Given the description of an element on the screen output the (x, y) to click on. 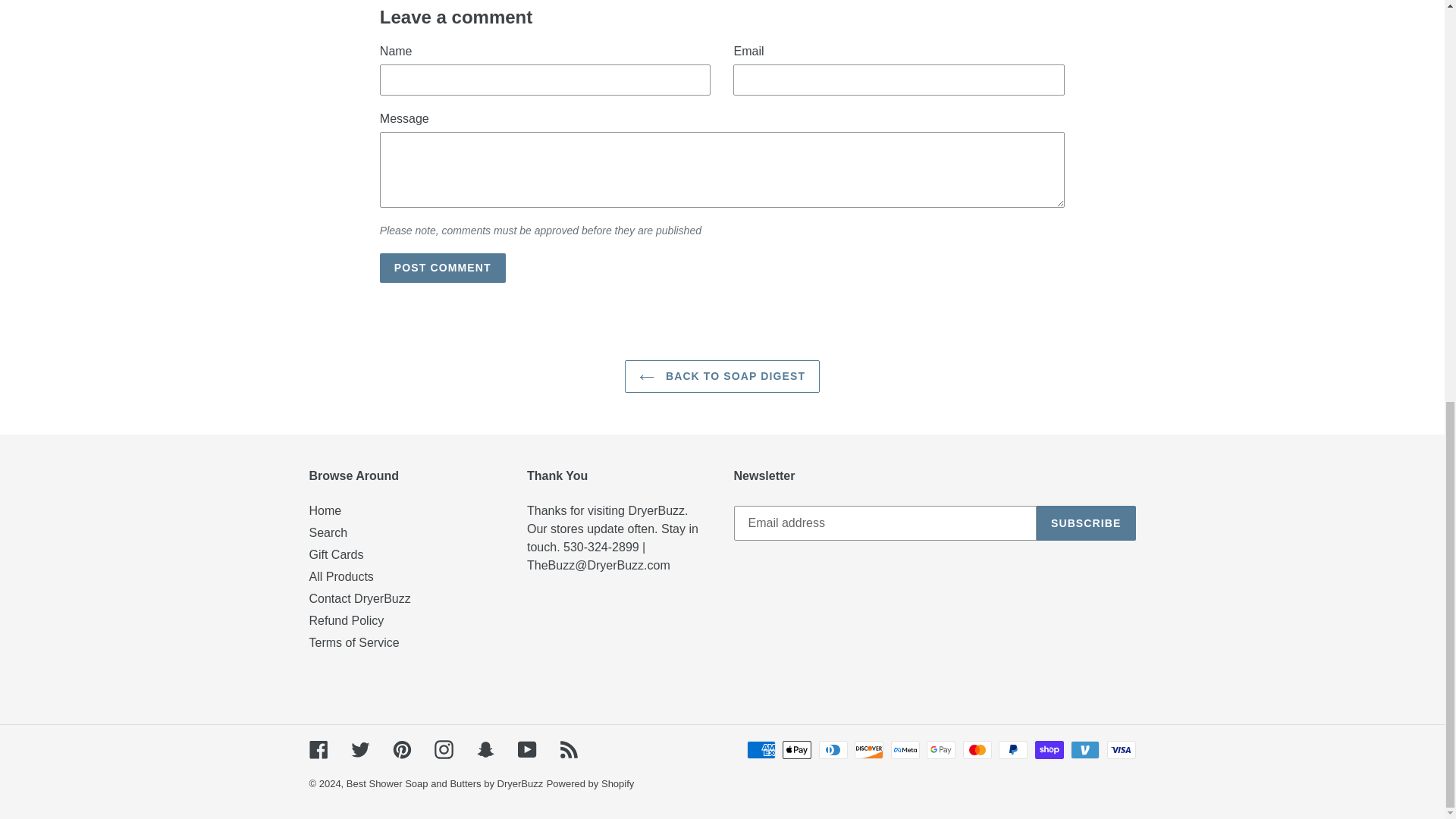
Post comment (442, 267)
